Given the description of an element on the screen output the (x, y) to click on. 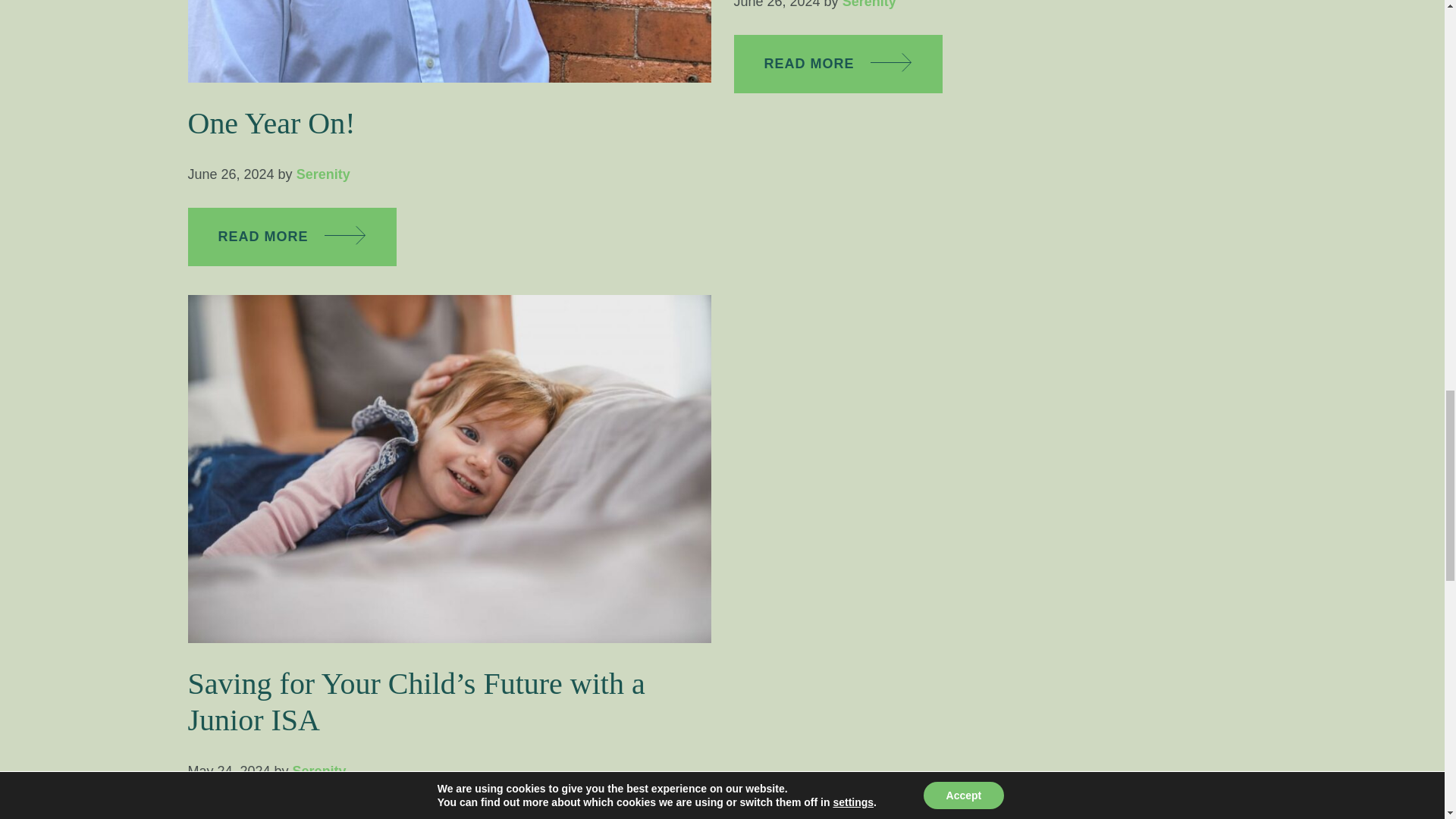
Serenity (323, 174)
One Year On! (271, 123)
